Given the description of an element on the screen output the (x, y) to click on. 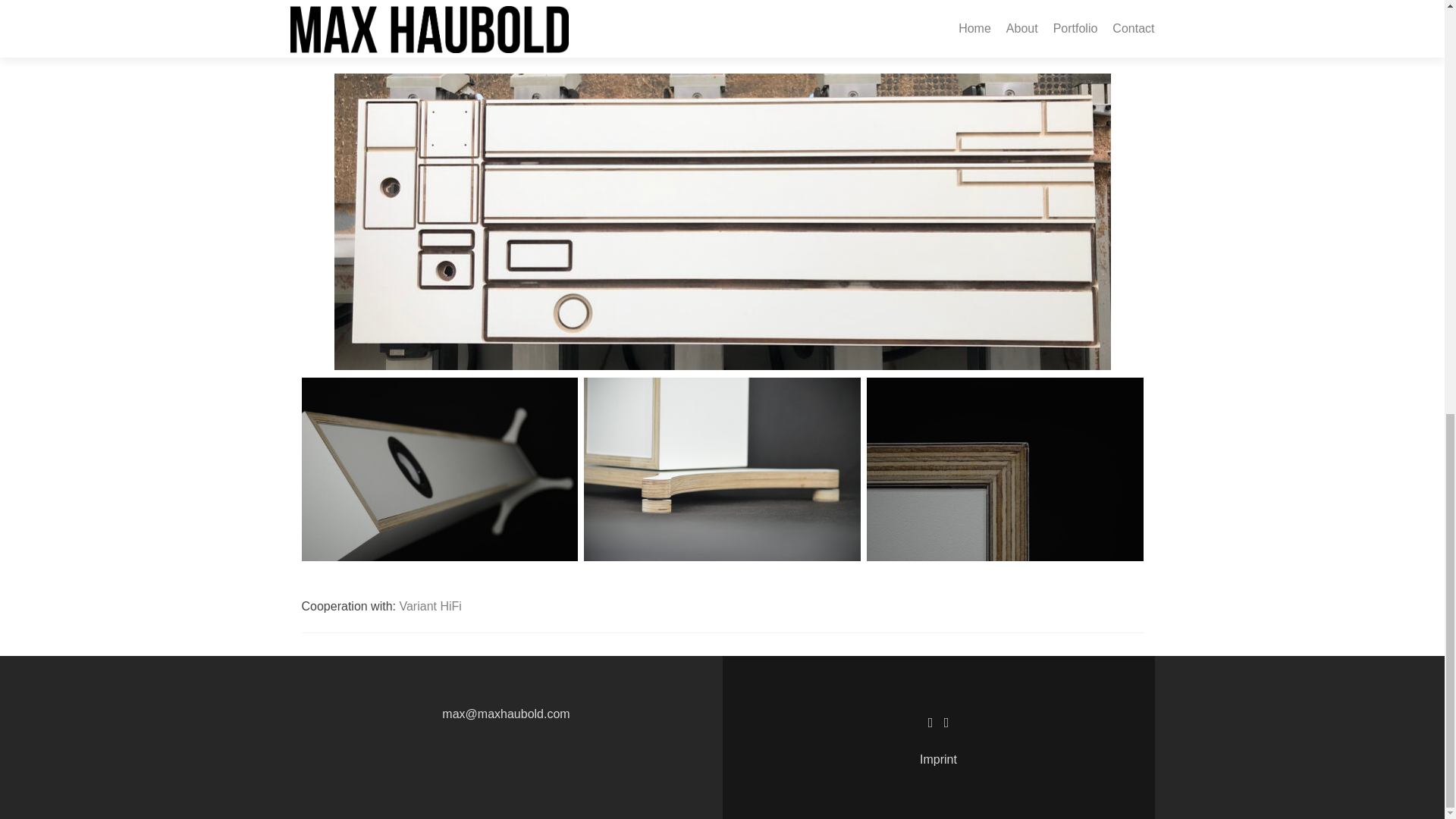
Variant HiFi (429, 605)
Instagram Link (946, 721)
LinkedIn-Link (930, 721)
Imprint (938, 758)
